Given the description of an element on the screen output the (x, y) to click on. 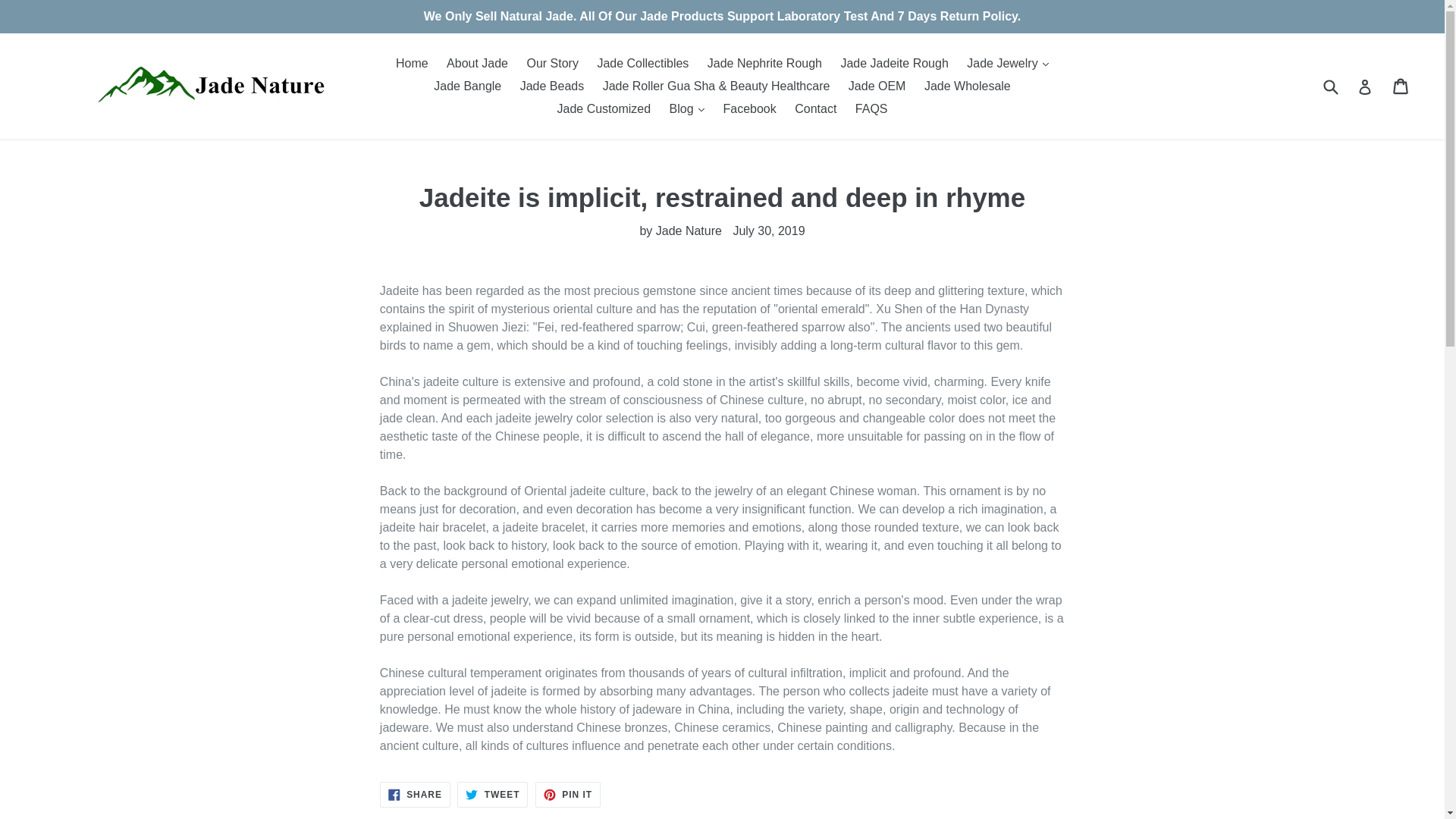
Home (411, 63)
Our Story (551, 63)
Share on Facebook (414, 794)
Jade Nephrite Rough (764, 63)
Pin on Pinterest (567, 794)
Jade Jadeite Rough (893, 63)
About Jade (477, 63)
Tweet on Twitter (492, 794)
Jade Collectibles (642, 63)
